Given the description of an element on the screen output the (x, y) to click on. 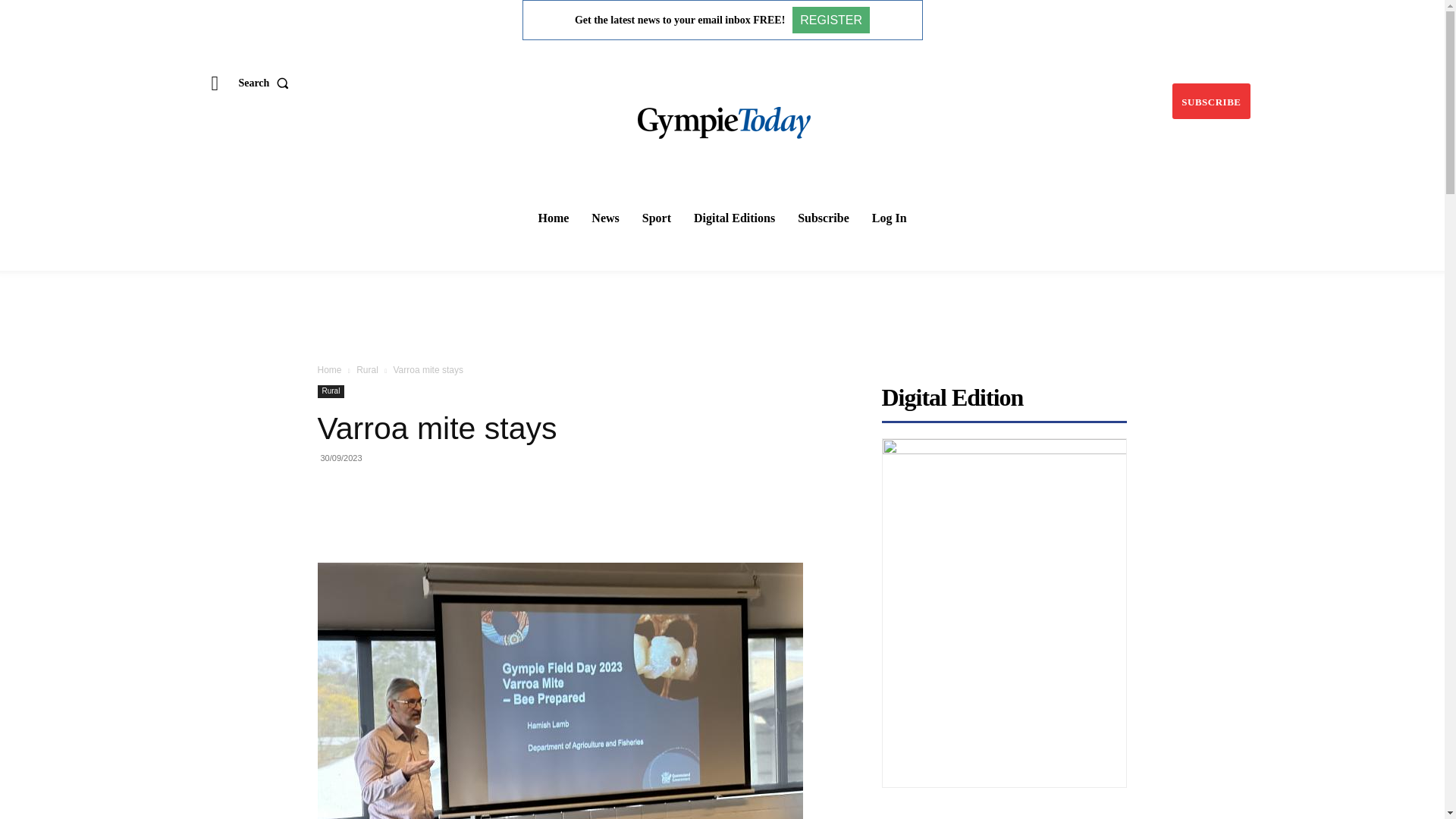
Home (552, 218)
topFacebookLike (430, 485)
News (604, 218)
Log In (889, 218)
Rural (330, 391)
Home (328, 369)
View all posts in Rural (367, 369)
Search (266, 82)
Subscribe (823, 218)
REGISTER (830, 19)
Subscribe (1210, 100)
SUBSCRIBE (1210, 100)
Digital Editions (734, 218)
Sport (656, 218)
Rural (367, 369)
